Given the description of an element on the screen output the (x, y) to click on. 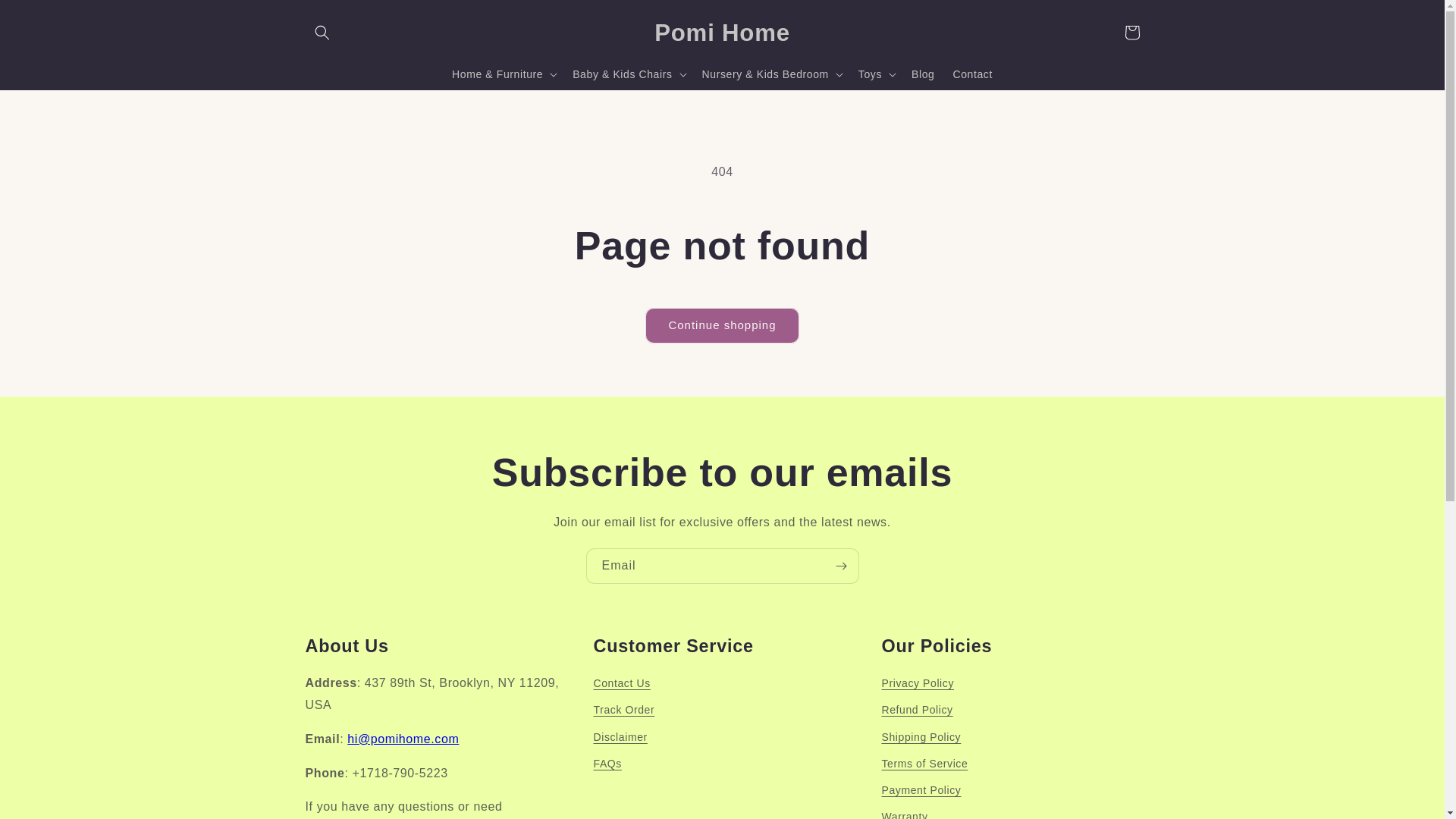
Skip to content (45, 17)
Pomi Home (722, 32)
Blog (922, 74)
Contact (972, 74)
Cart (1131, 32)
